Given the description of an element on the screen output the (x, y) to click on. 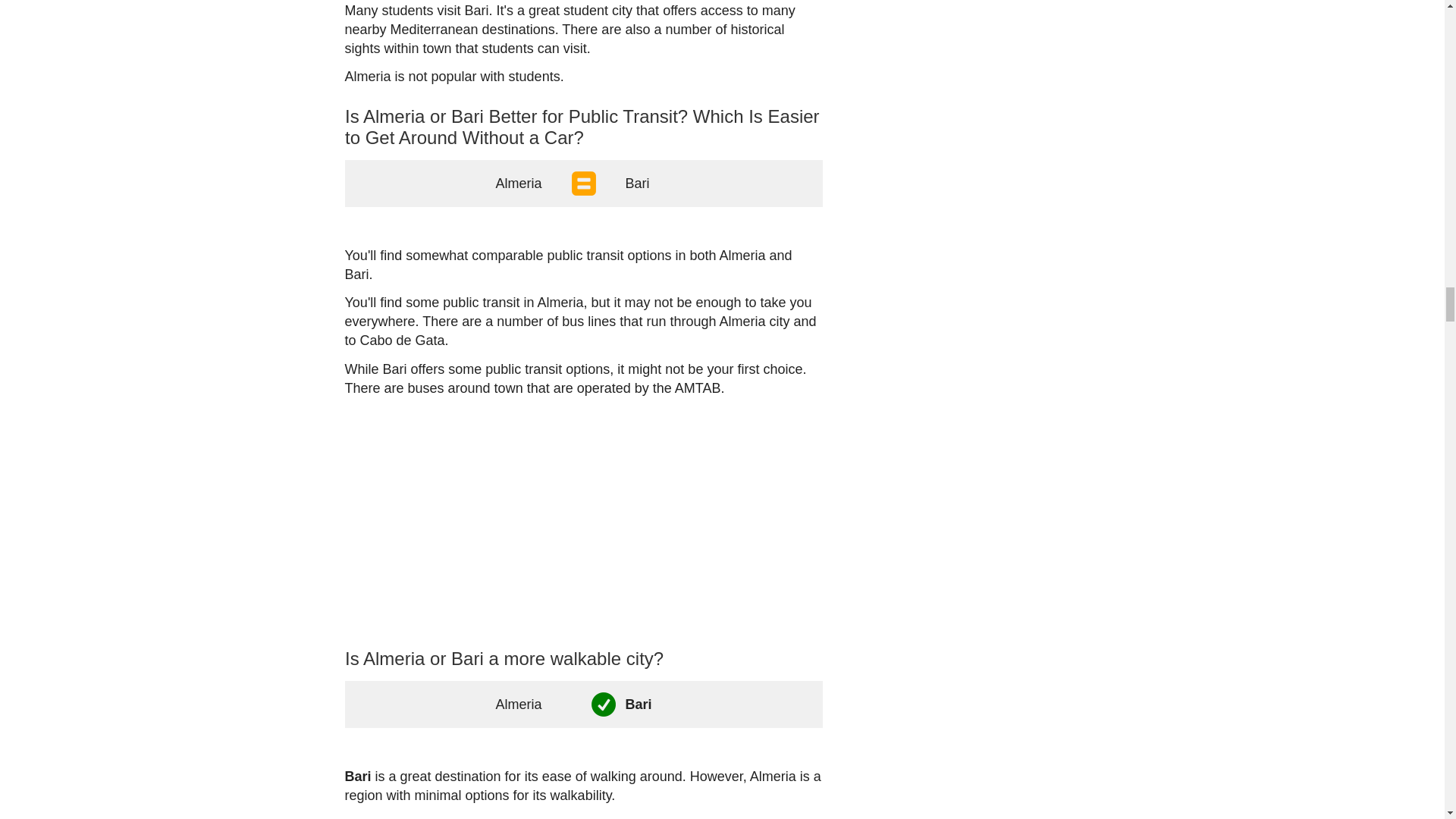
Is Bari Worth Visiting? (571, 606)
Is Almeria Worth Visiting? (681, 597)
